Given the description of an element on the screen output the (x, y) to click on. 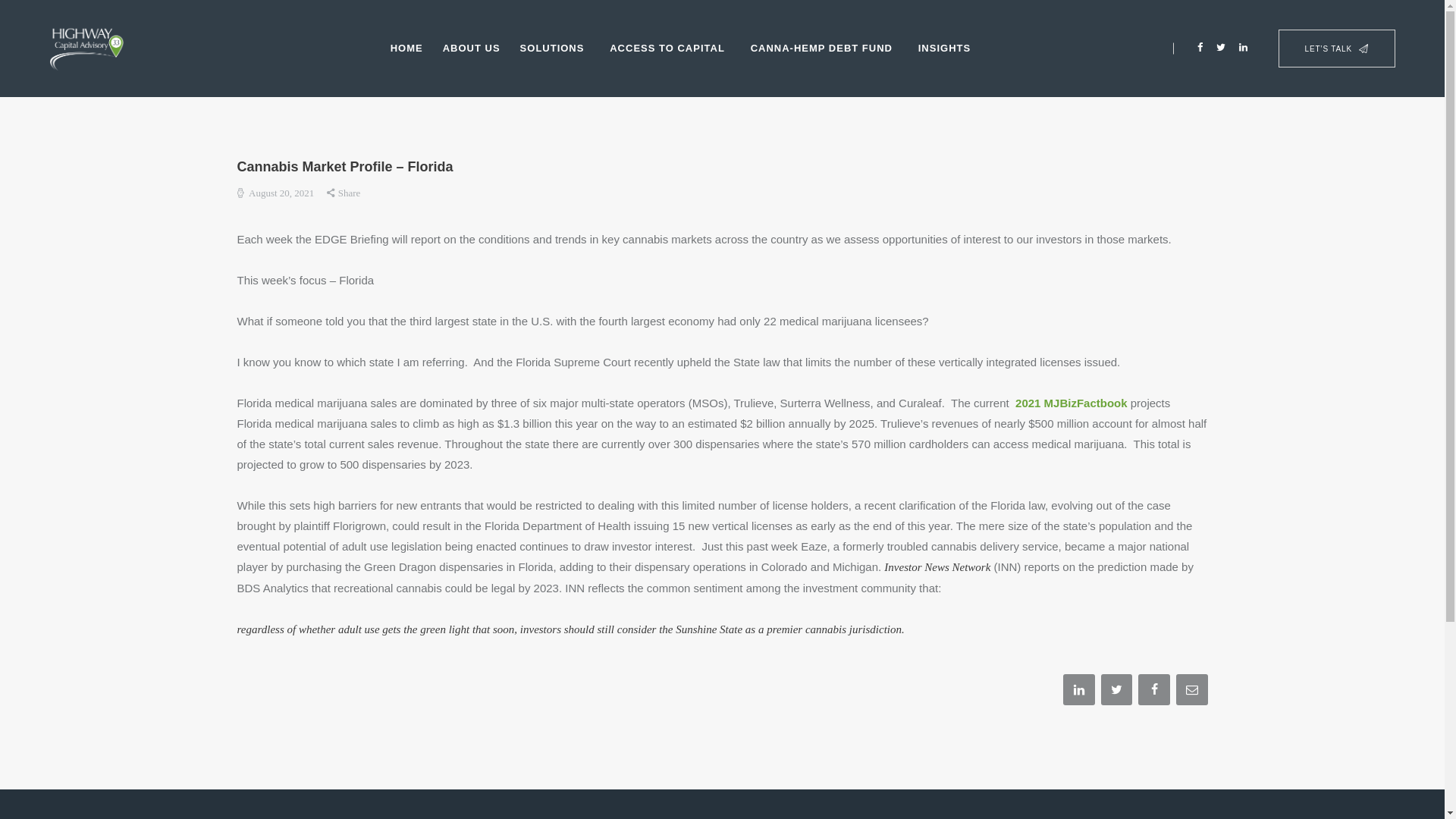
ABOUT US (471, 47)
HOME (406, 47)
SOLUTIONS (555, 47)
CANNA-HEMP DEBT FUND (824, 47)
INSIGHTS (947, 47)
ACCESS TO CAPITAL (669, 47)
